Given the description of an element on the screen output the (x, y) to click on. 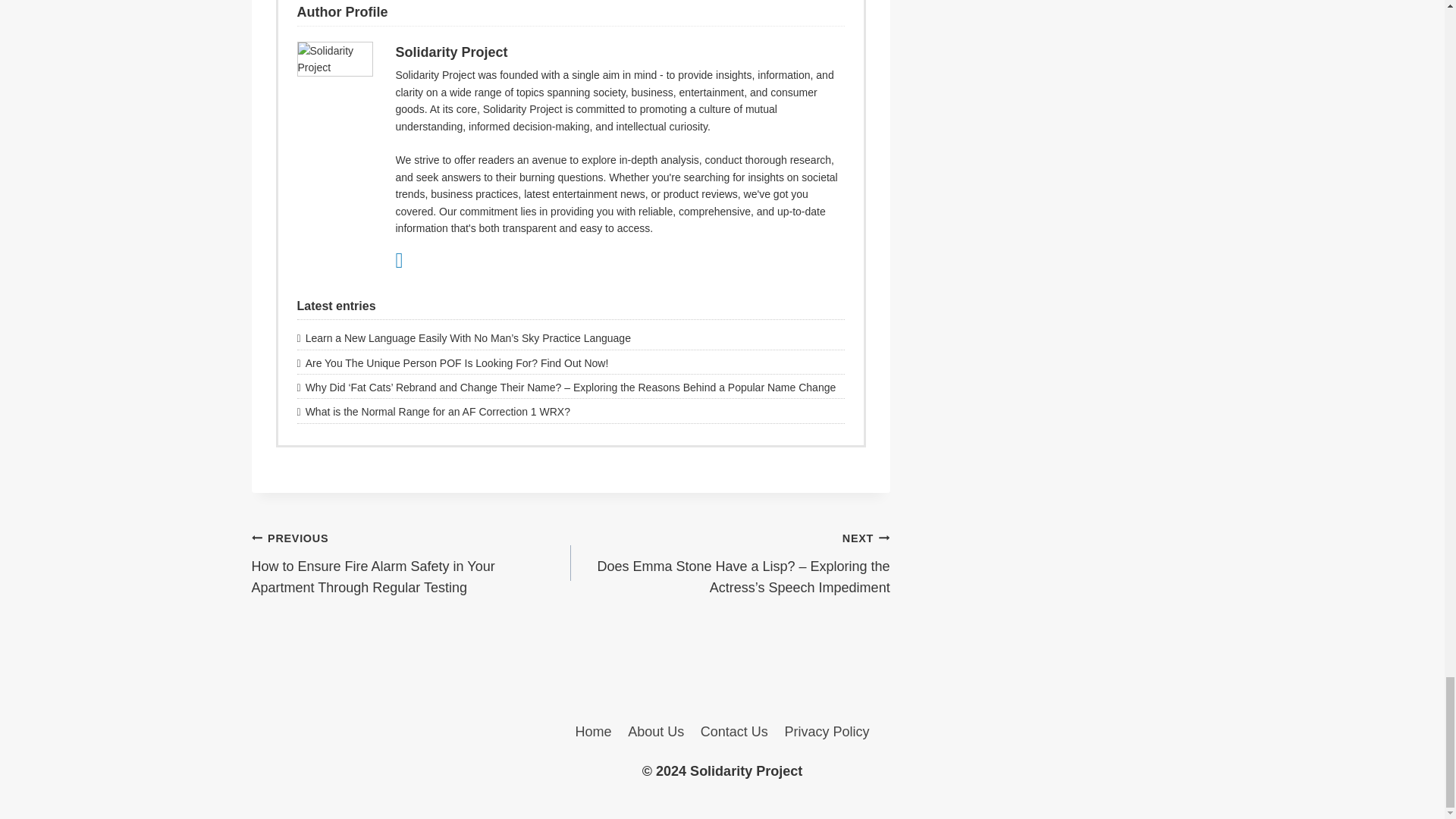
About Us (656, 731)
What is the Normal Range for an AF Correction 1 WRX? (570, 411)
Privacy Policy (826, 731)
Contact Us (734, 731)
Home (593, 731)
Are You The Unique Person POF Is Looking For? Find Out Now! (570, 362)
